Given the description of an element on the screen output the (x, y) to click on. 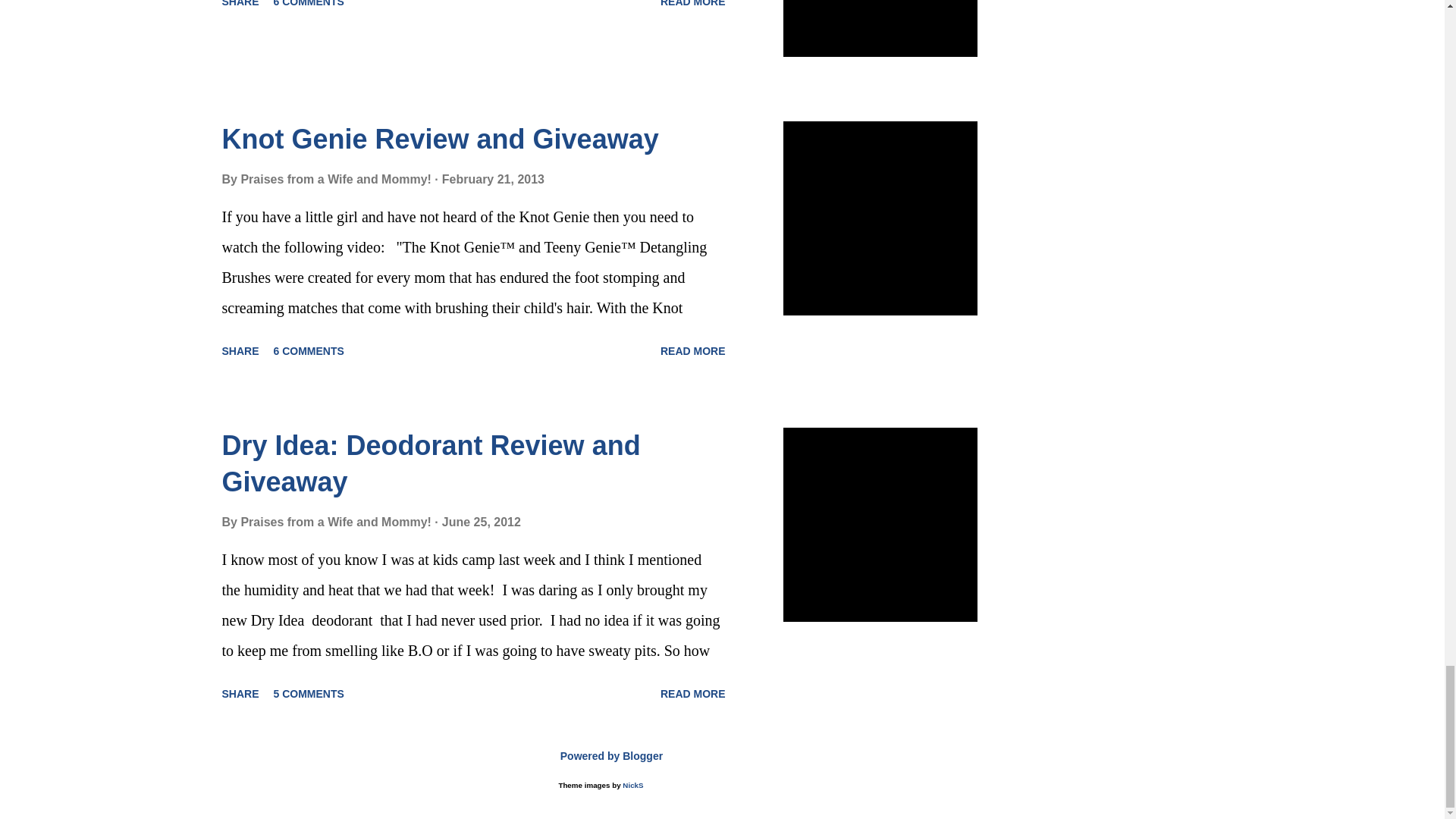
Knot Genie Review and Giveaway (439, 138)
6 COMMENTS (308, 6)
READ MORE (692, 351)
February 21, 2013 (493, 178)
SHARE (239, 6)
Dry Idea: Deodorant Review and Giveaway (430, 463)
SHARE (239, 351)
READ MORE (692, 6)
6 COMMENTS (308, 351)
